Given the description of an element on the screen output the (x, y) to click on. 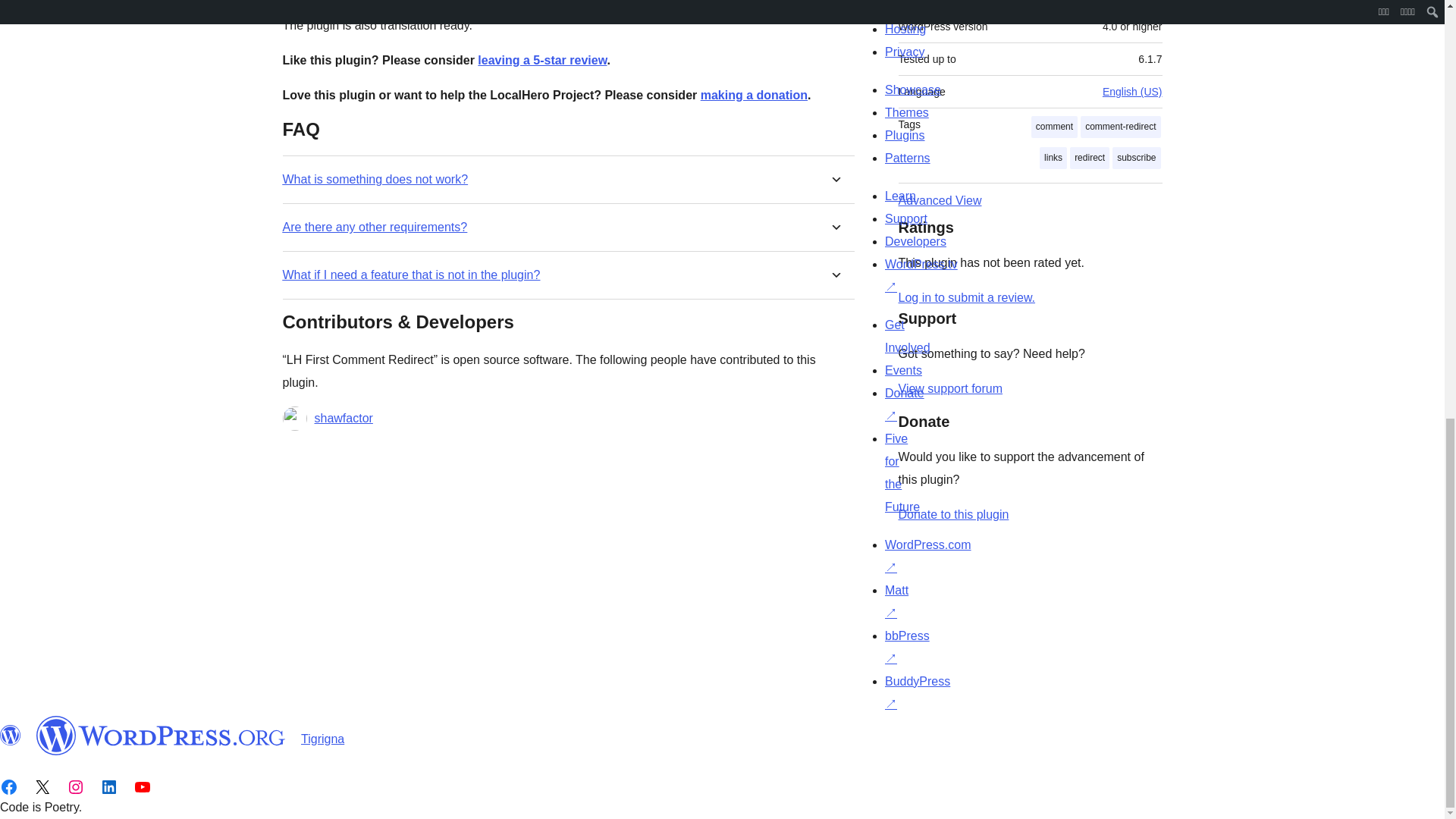
making a donation (754, 94)
What is something does not work? (374, 178)
Are there any other requirements? (374, 227)
leaving a 5-star review (542, 60)
WordPress.org (10, 735)
WordPress.org (160, 735)
Log in to WordPress.org (966, 297)
What if I need a feature that is not in the plugin? (411, 274)
